Given the description of an element on the screen output the (x, y) to click on. 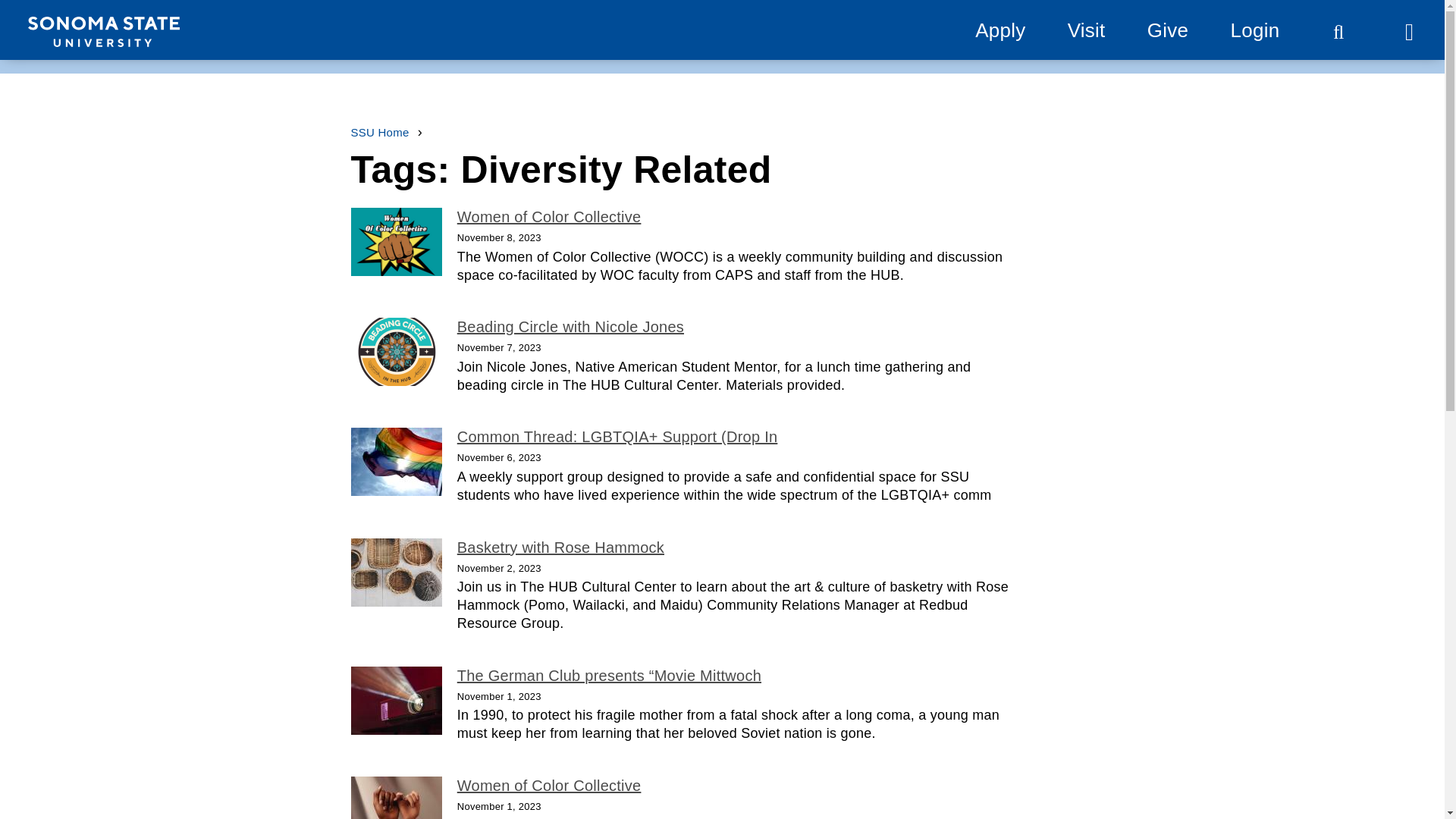
Apply (1000, 30)
Beading Circle  (395, 351)
Women of Color Collective.png (395, 242)
Jump to content (69, 19)
Visit (1086, 30)
Give (1167, 30)
Login (1254, 30)
